Given the description of an element on the screen output the (x, y) to click on. 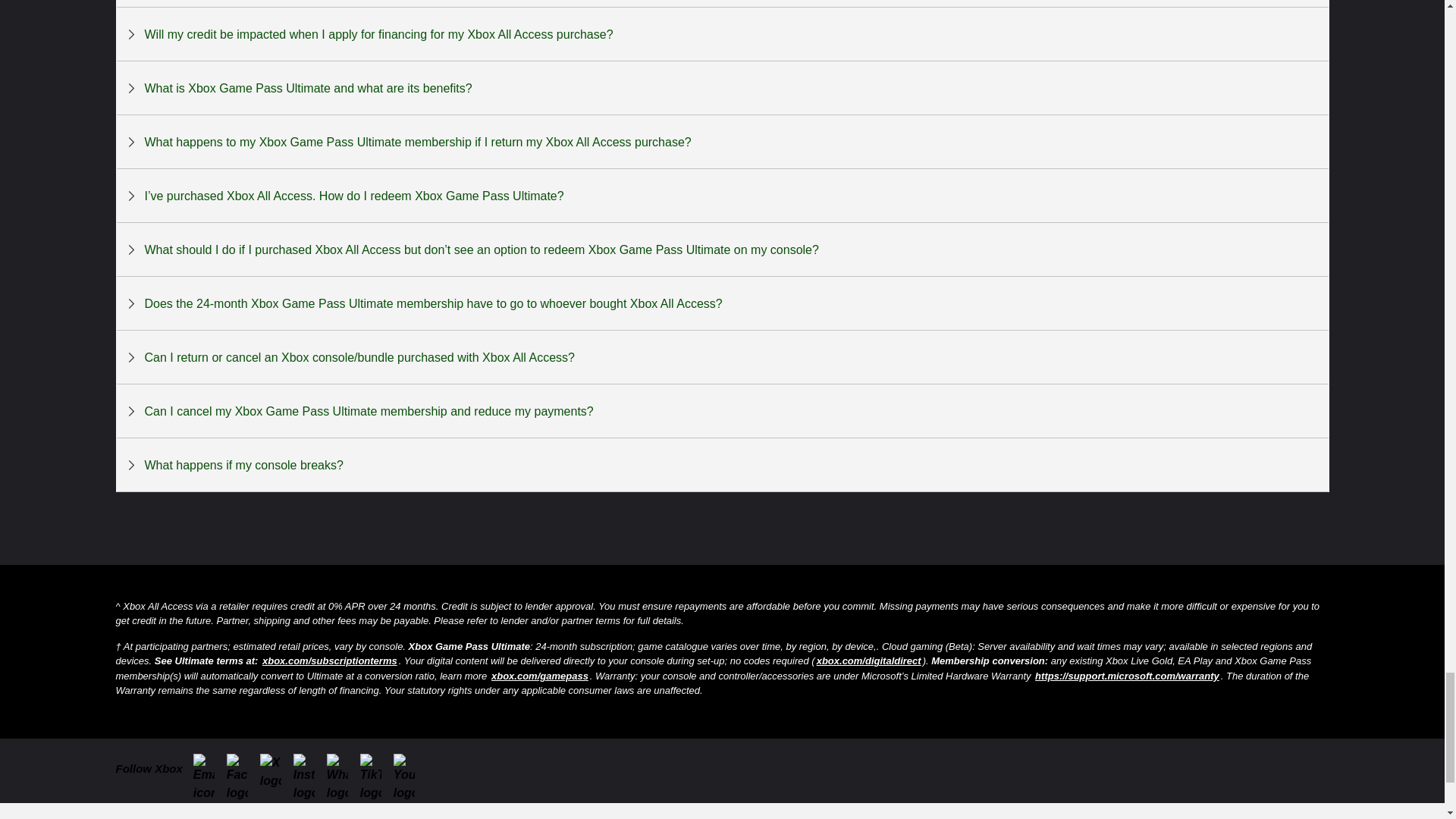
Instagram (308, 769)
WhatsApp (341, 769)
Facebook (242, 769)
YouTube (408, 769)
X (275, 766)
TikTok (374, 769)
Email (208, 769)
